Given the description of an element on the screen output the (x, y) to click on. 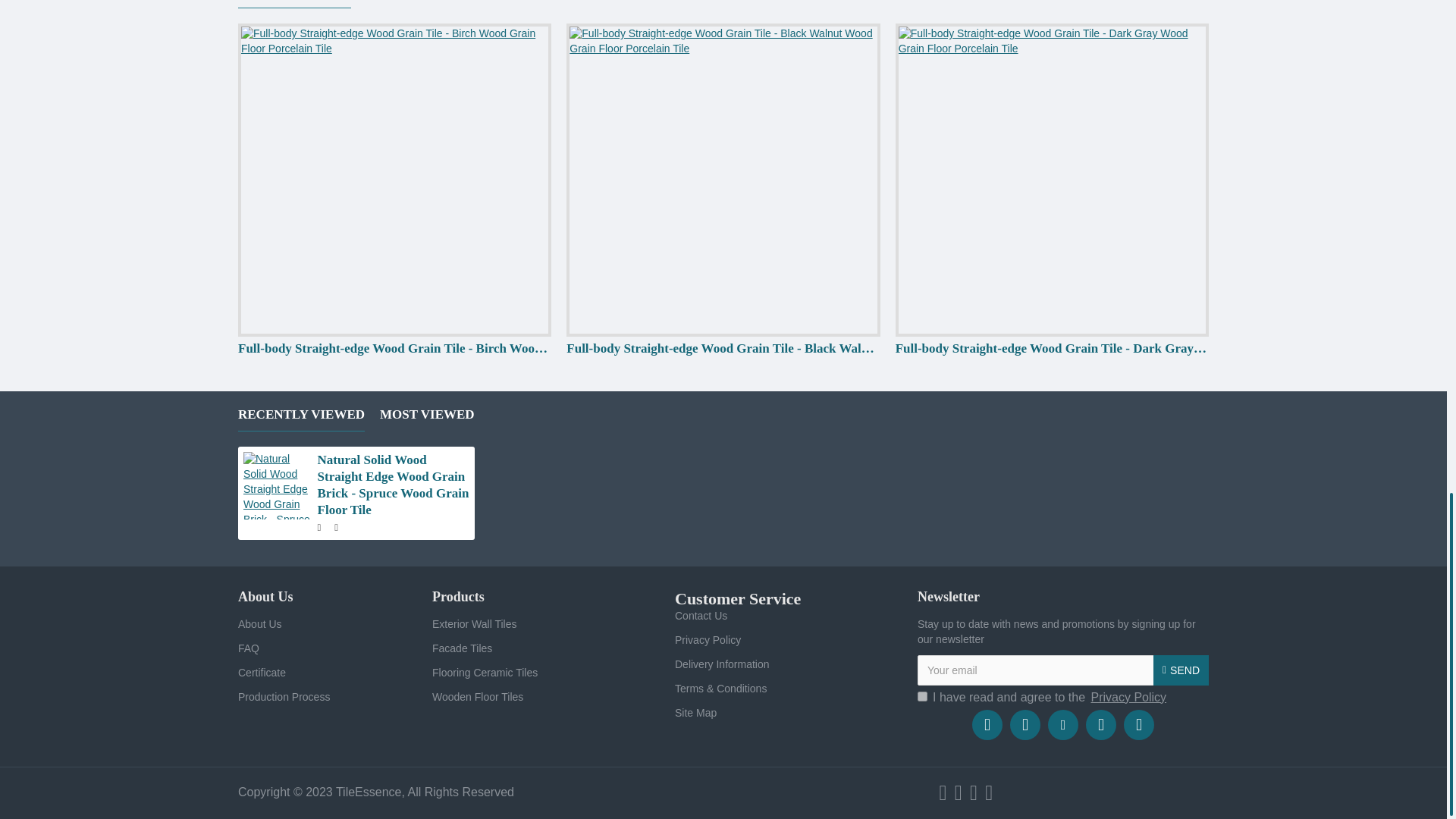
1 (922, 696)
